Given the description of an element on the screen output the (x, y) to click on. 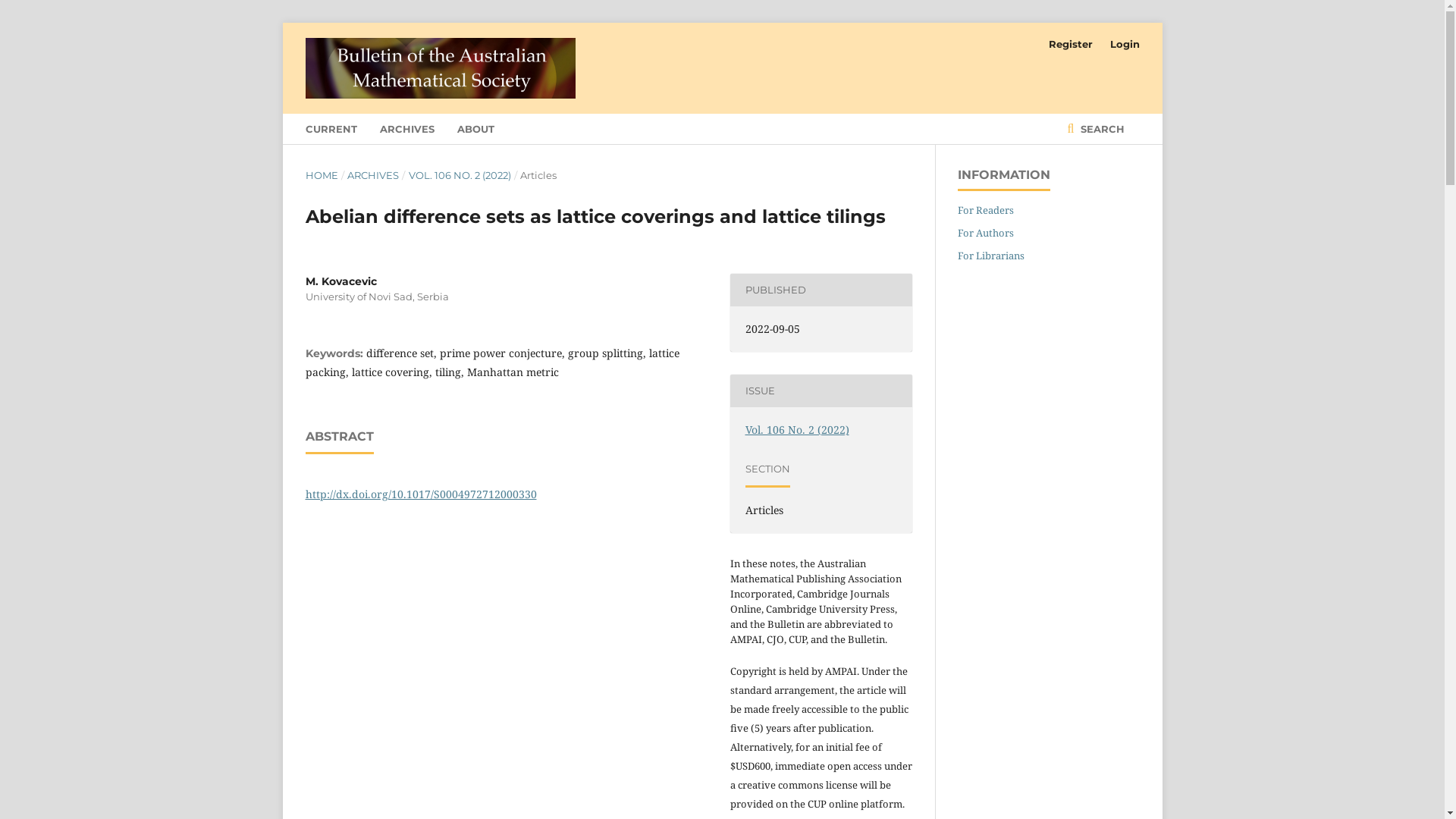
HOME Element type: text (320, 174)
ARCHIVES Element type: text (406, 128)
VOL. 106 NO. 2 (2022) Element type: text (459, 174)
For Authors Element type: text (985, 232)
CURRENT Element type: text (330, 128)
For Readers Element type: text (985, 209)
Login Element type: text (1120, 43)
ARCHIVES Element type: text (372, 174)
SEARCH Element type: text (1095, 128)
ABOUT Element type: text (474, 128)
http://dx.doi.org/10.1017/S0004972712000330 Element type: text (420, 493)
For Librarians Element type: text (990, 255)
Vol. 106 No. 2 (2022) Element type: text (796, 429)
Register Element type: text (1069, 43)
